Given the description of an element on the screen output the (x, y) to click on. 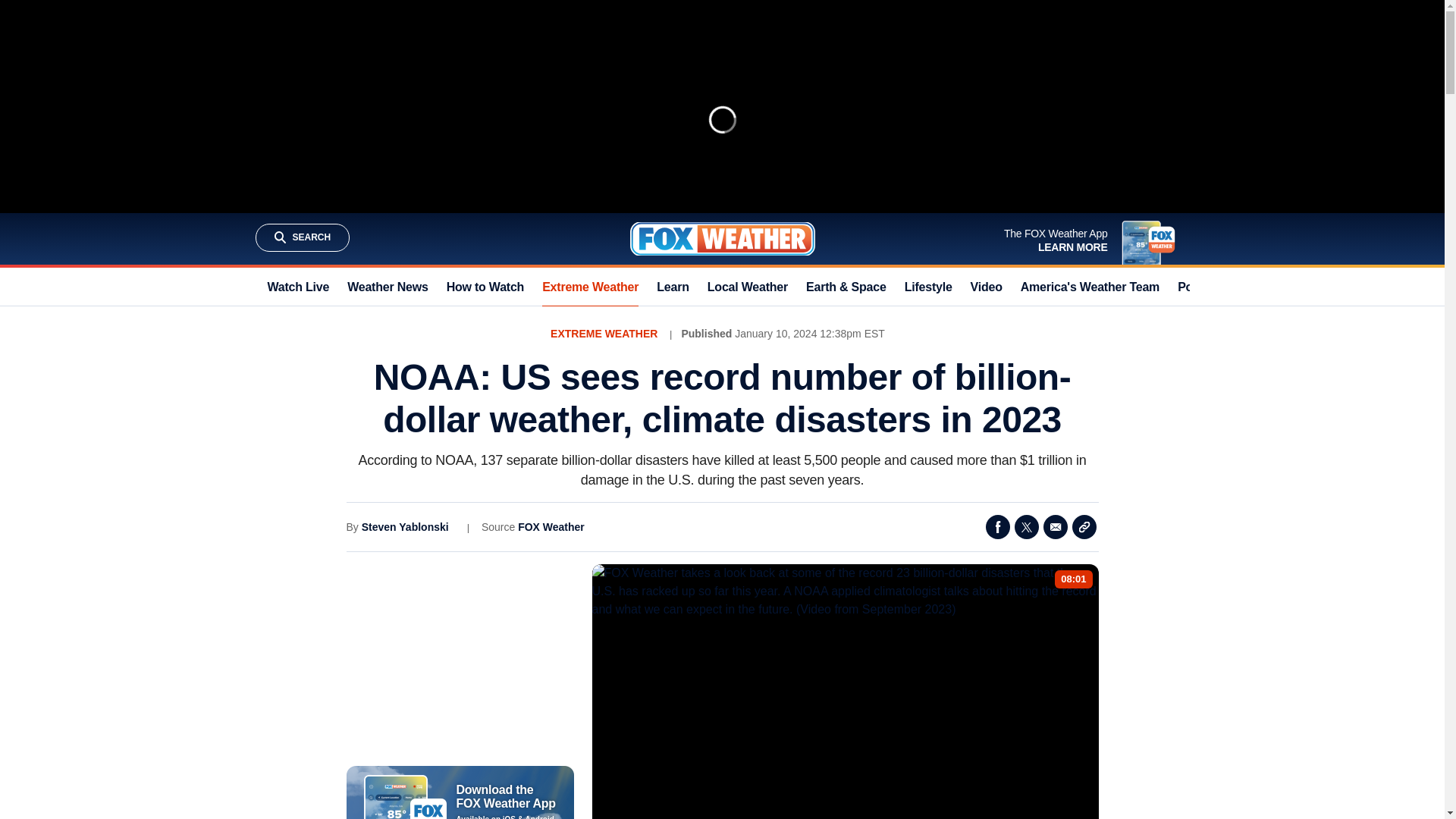
America's Weather Team (1089, 286)
Email (1055, 526)
Lifestyle (928, 286)
Local Weather (747, 286)
Steven Yablonski (404, 526)
Copy Link (1083, 526)
Twitter (1026, 526)
Weather News (387, 286)
FOX Weather (551, 526)
08:01 (1073, 579)
